Given the description of an element on the screen output the (x, y) to click on. 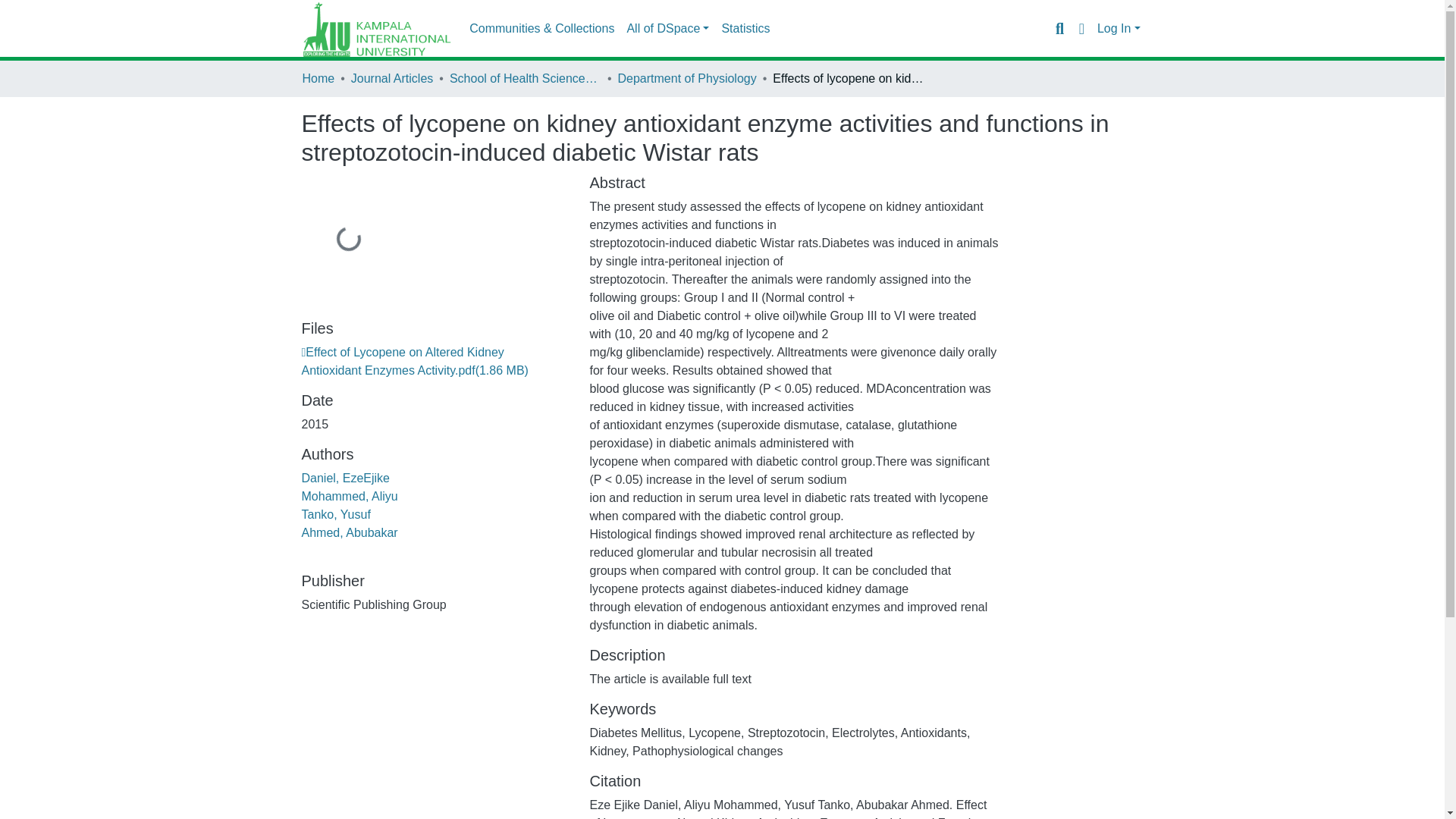
Language switch (1081, 28)
Tanko, Yusuf (336, 513)
Statistics (745, 28)
Home (317, 78)
Statistics (745, 28)
Journal Articles (391, 78)
All of DSpace (667, 28)
Mohammed, Aliyu (349, 495)
Log In (1118, 28)
Ahmed, Abubakar (349, 532)
